Given the description of an element on the screen output the (x, y) to click on. 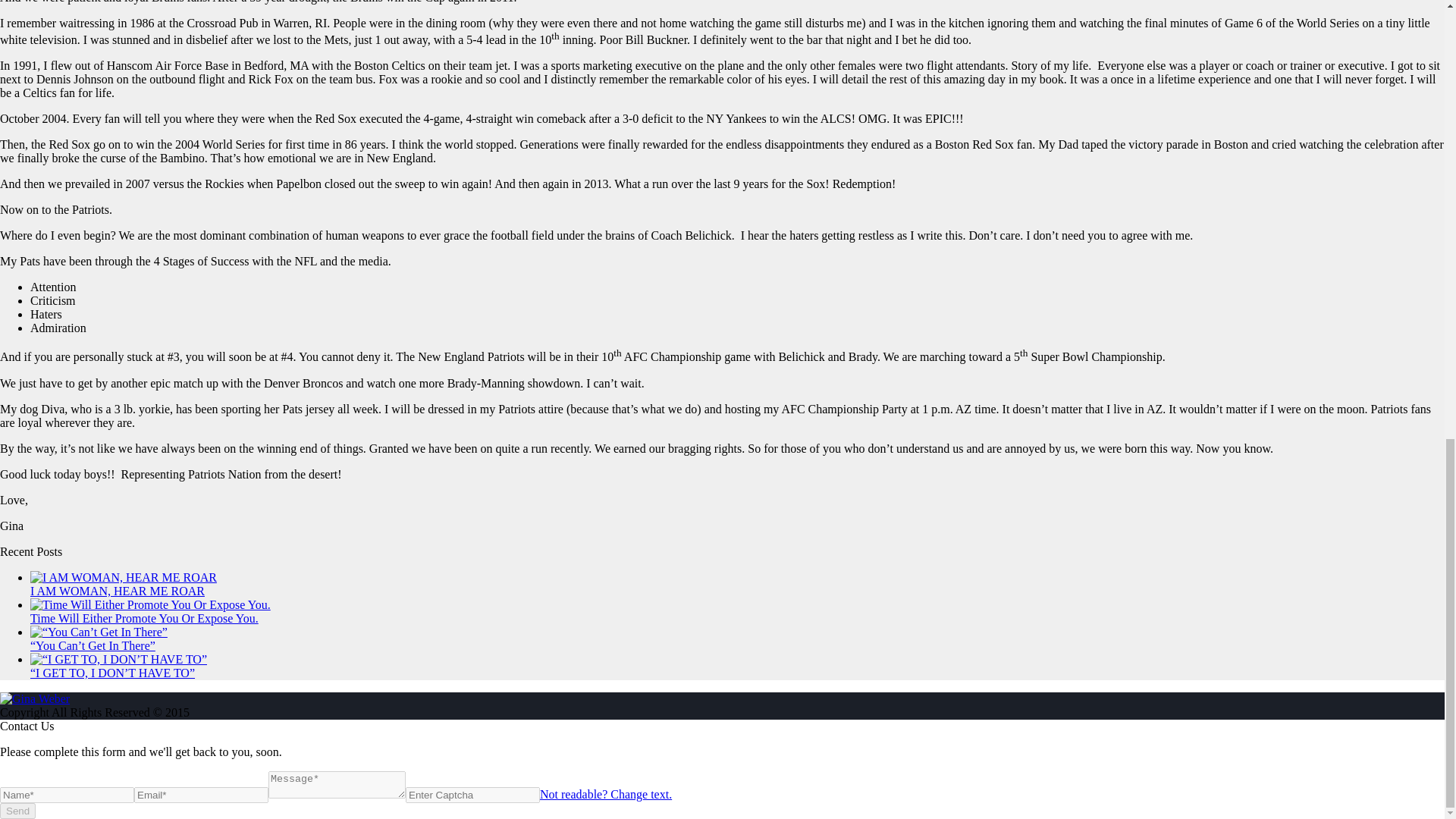
Gina Weber (34, 698)
Time Will Either Promote You Or Expose You. (144, 617)
Not readable? Change text. (605, 793)
I AM WOMAN, HEAR ME ROAR (117, 590)
